Given the description of an element on the screen output the (x, y) to click on. 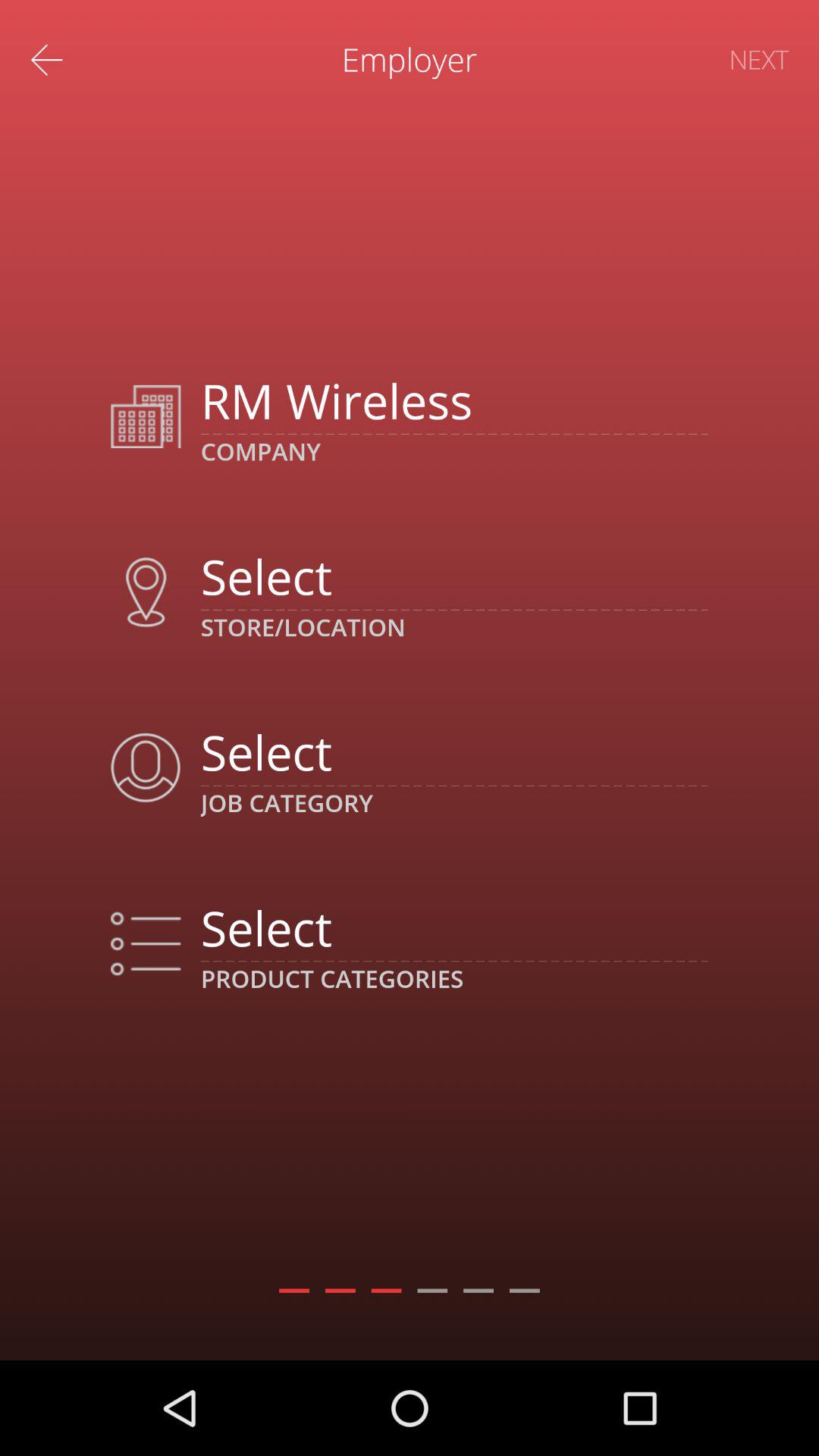
select job (454, 751)
